Given the description of an element on the screen output the (x, y) to click on. 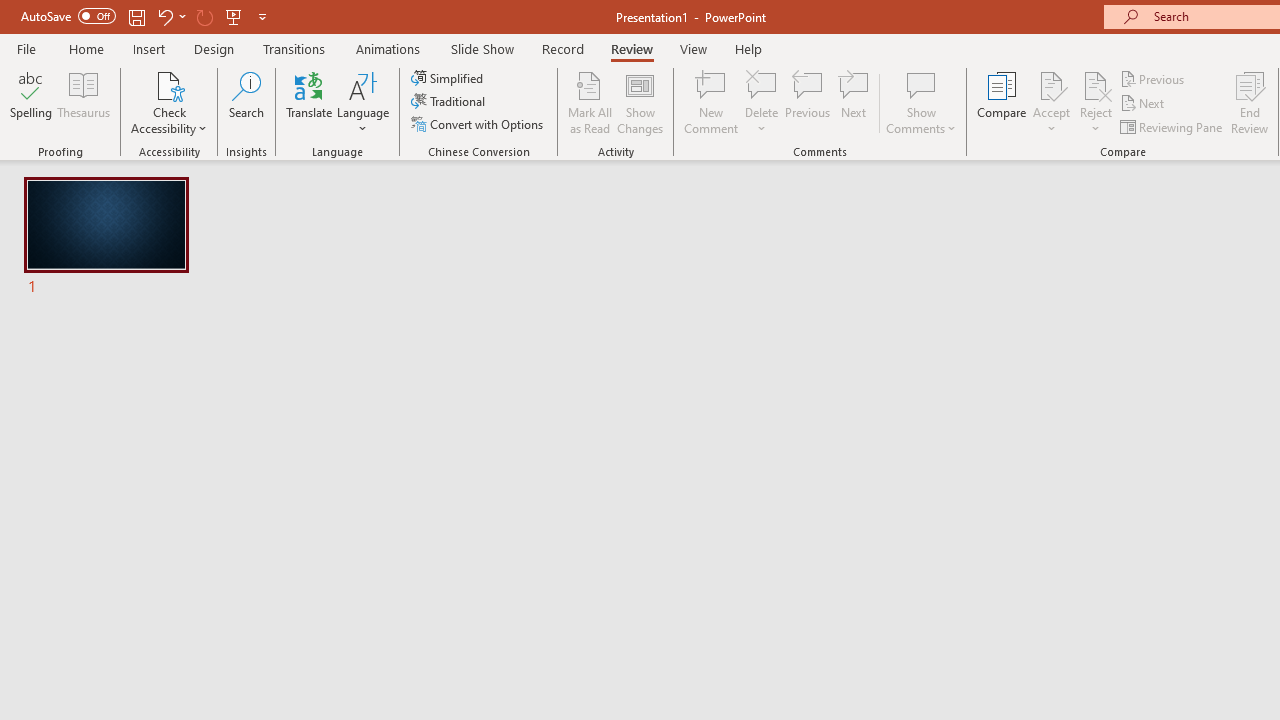
Mark All as Read (589, 102)
Simplified (449, 78)
New Comment (711, 102)
Previous (1153, 78)
Reject (1096, 102)
Translate (309, 102)
Show Comments (921, 84)
Check Accessibility (169, 84)
End Review (1249, 102)
